Given the description of an element on the screen output the (x, y) to click on. 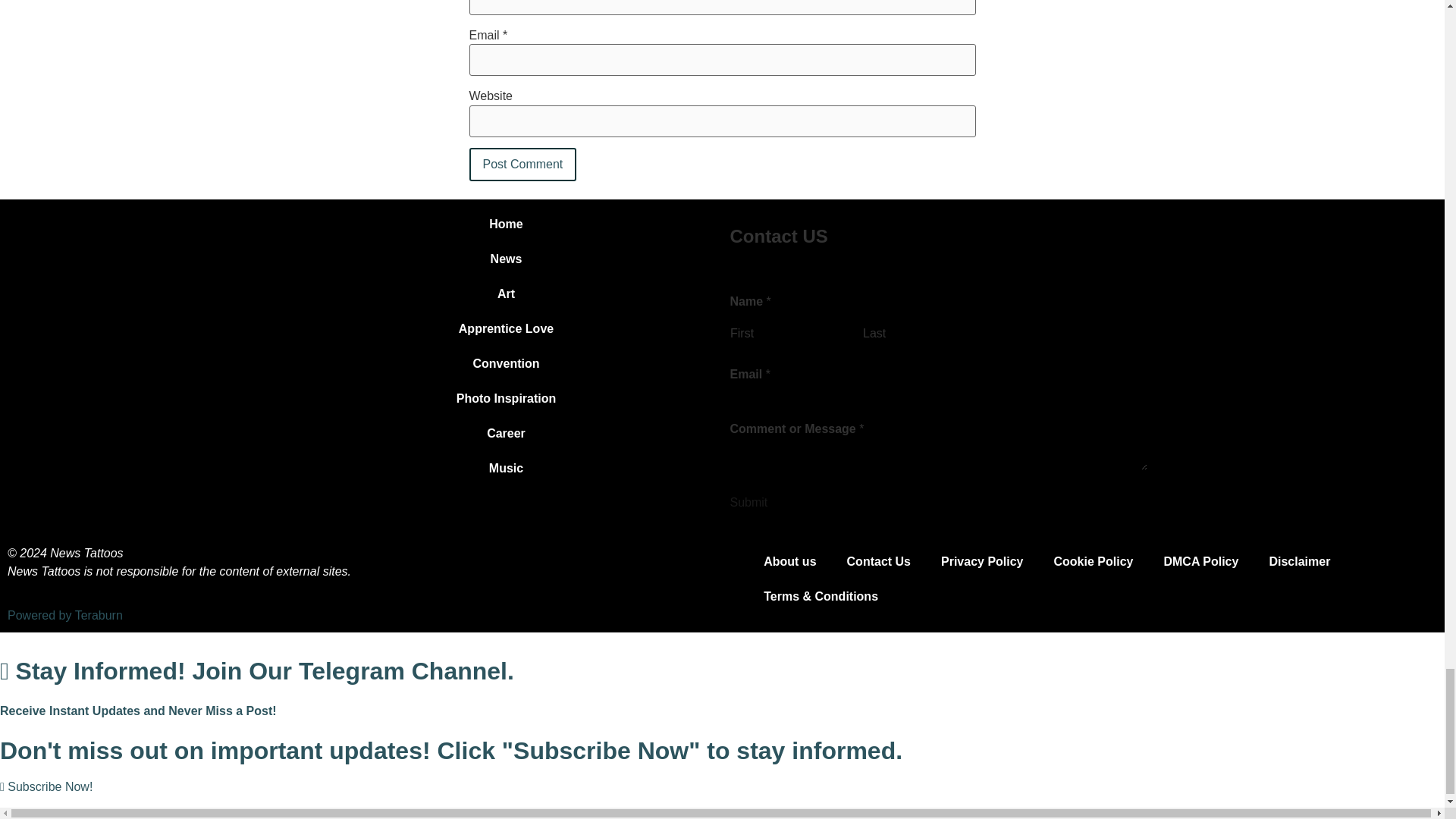
Apprentice Love (505, 329)
Career (505, 433)
News (505, 258)
Photo Inspiration (505, 398)
Post Comment (522, 164)
Post Comment (522, 164)
Art (505, 294)
Music (505, 468)
Home (505, 224)
Convention (505, 363)
